Given the description of an element on the screen output the (x, y) to click on. 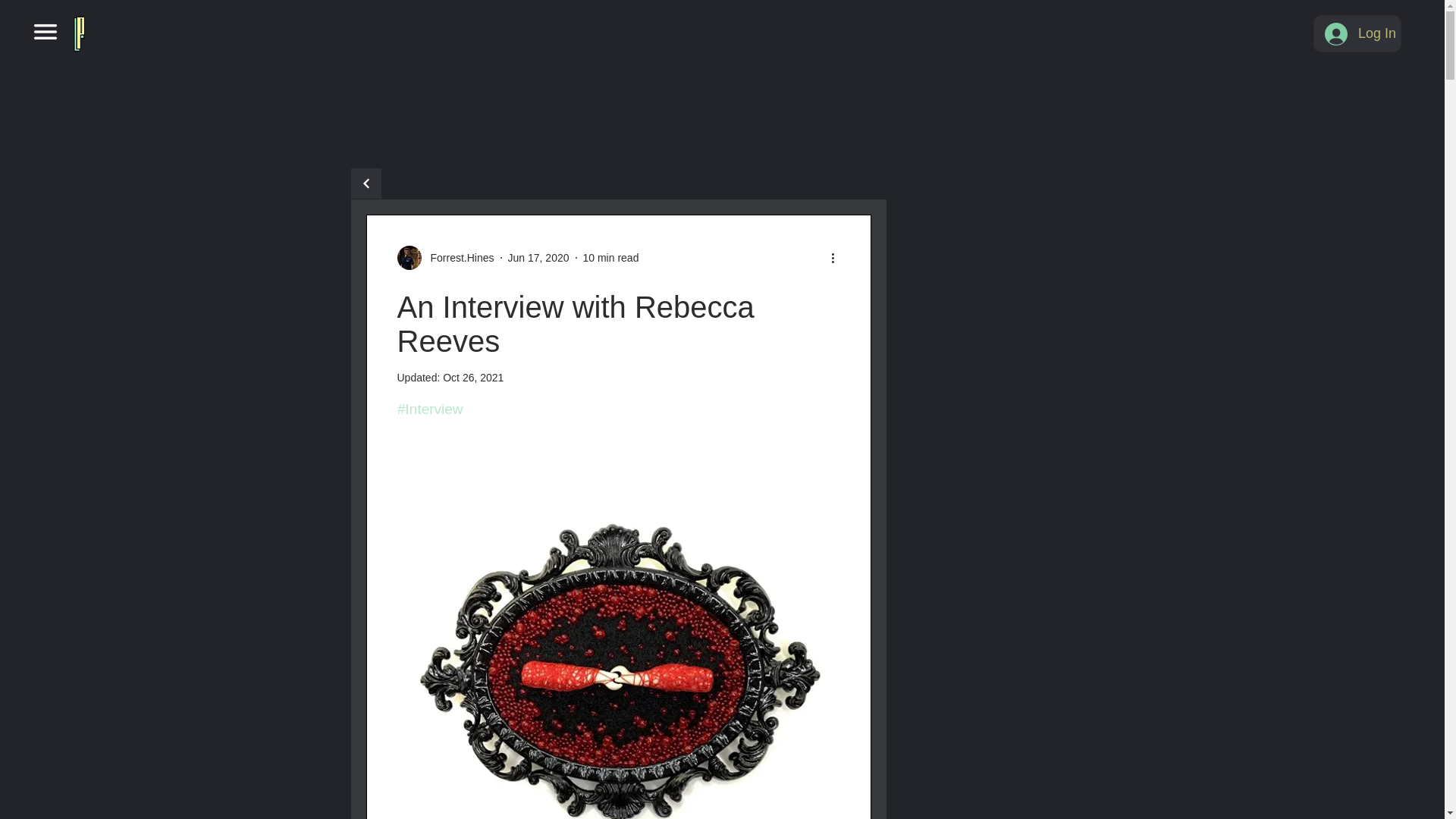
Oct 26, 2021 (472, 377)
Forrest.Hines (458, 258)
10 min read (610, 257)
Forrest.Hines (446, 257)
Log In (1357, 33)
Jun 17, 2020 (538, 257)
